Given the description of an element on the screen output the (x, y) to click on. 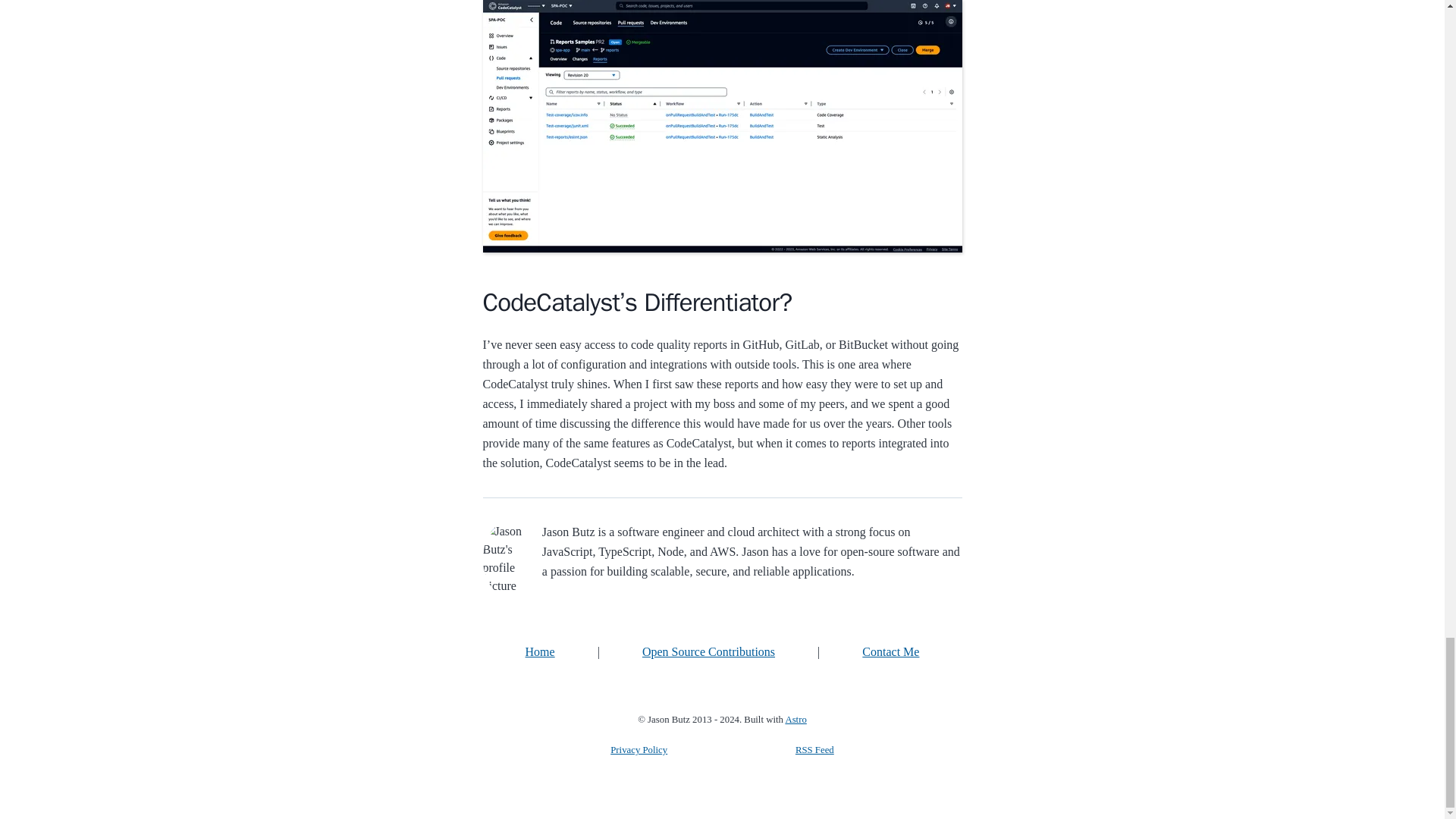
Astro (795, 719)
Credly (544, 616)
Mastodon (828, 616)
LinkedIn (757, 616)
Privacy Policy (638, 749)
Dev.to (615, 616)
Twitter (899, 616)
GitHub (686, 616)
Open Source Contributions (708, 651)
Home (539, 651)
RSS Feed (814, 749)
Contact Me (889, 651)
